Given the description of an element on the screen output the (x, y) to click on. 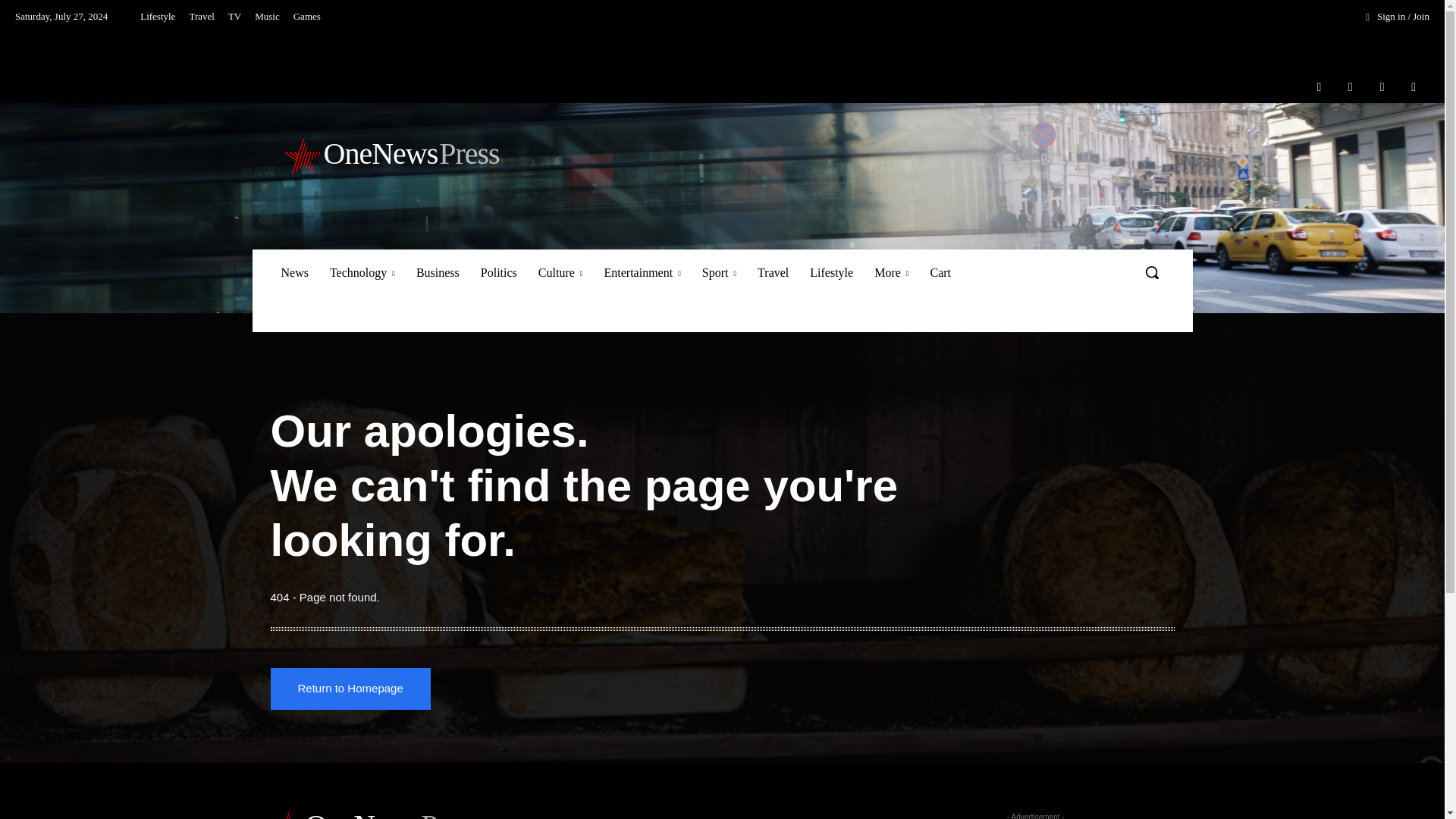
Music (266, 16)
Lifestyle (157, 16)
Instagram (1351, 87)
Games (306, 16)
Twitter (1382, 87)
Facebook (1319, 87)
Travel (201, 16)
Youtube (1413, 87)
